Given the description of an element on the screen output the (x, y) to click on. 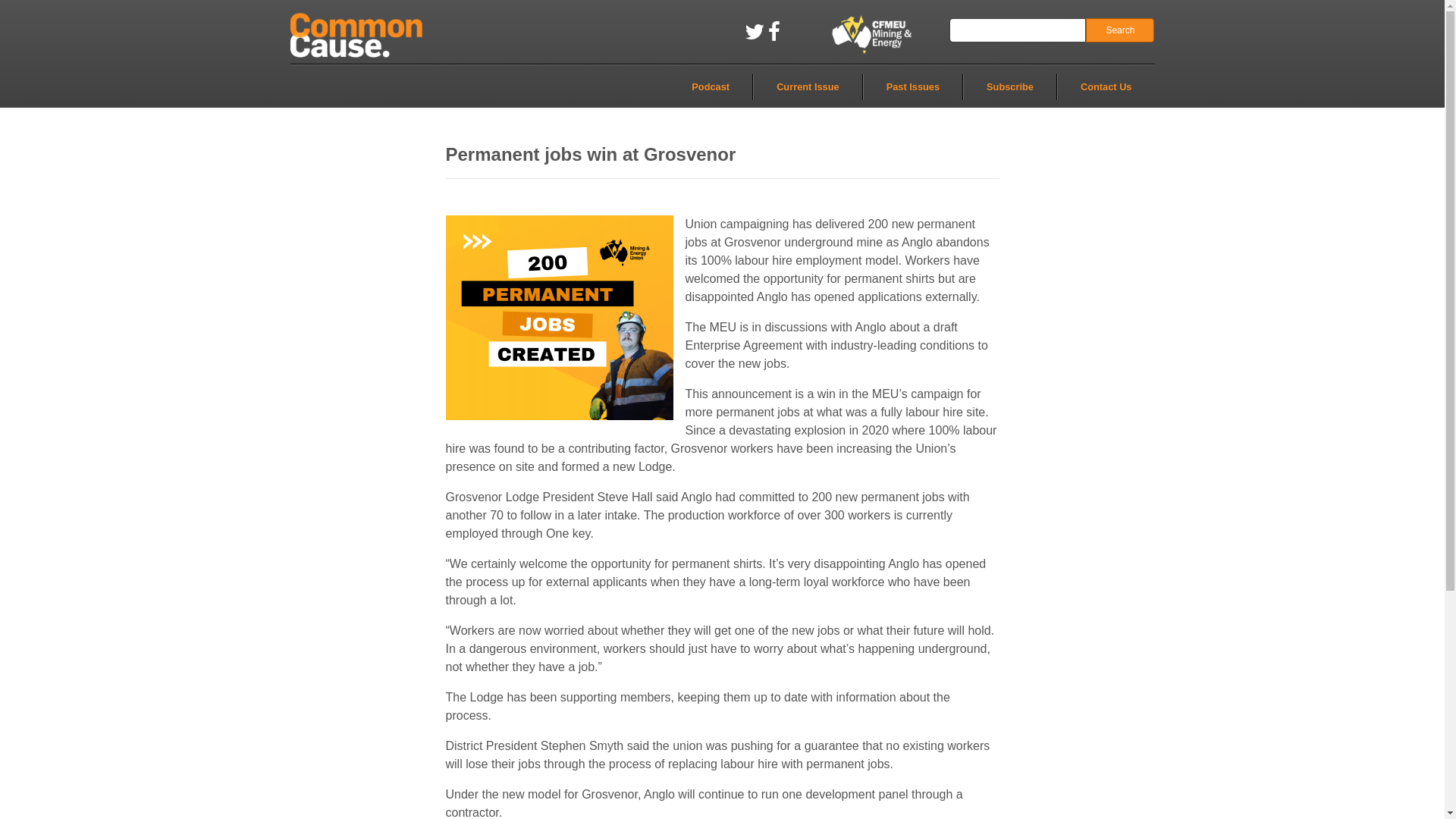
Past Issues Element type: text (912, 86)
Subscribe Element type: text (1010, 86)
Podcast Element type: text (710, 86)
Search Element type: text (1119, 30)
Current Issue Element type: text (807, 86)
Contact Us Element type: text (1105, 86)
